Given the description of an element on the screen output the (x, y) to click on. 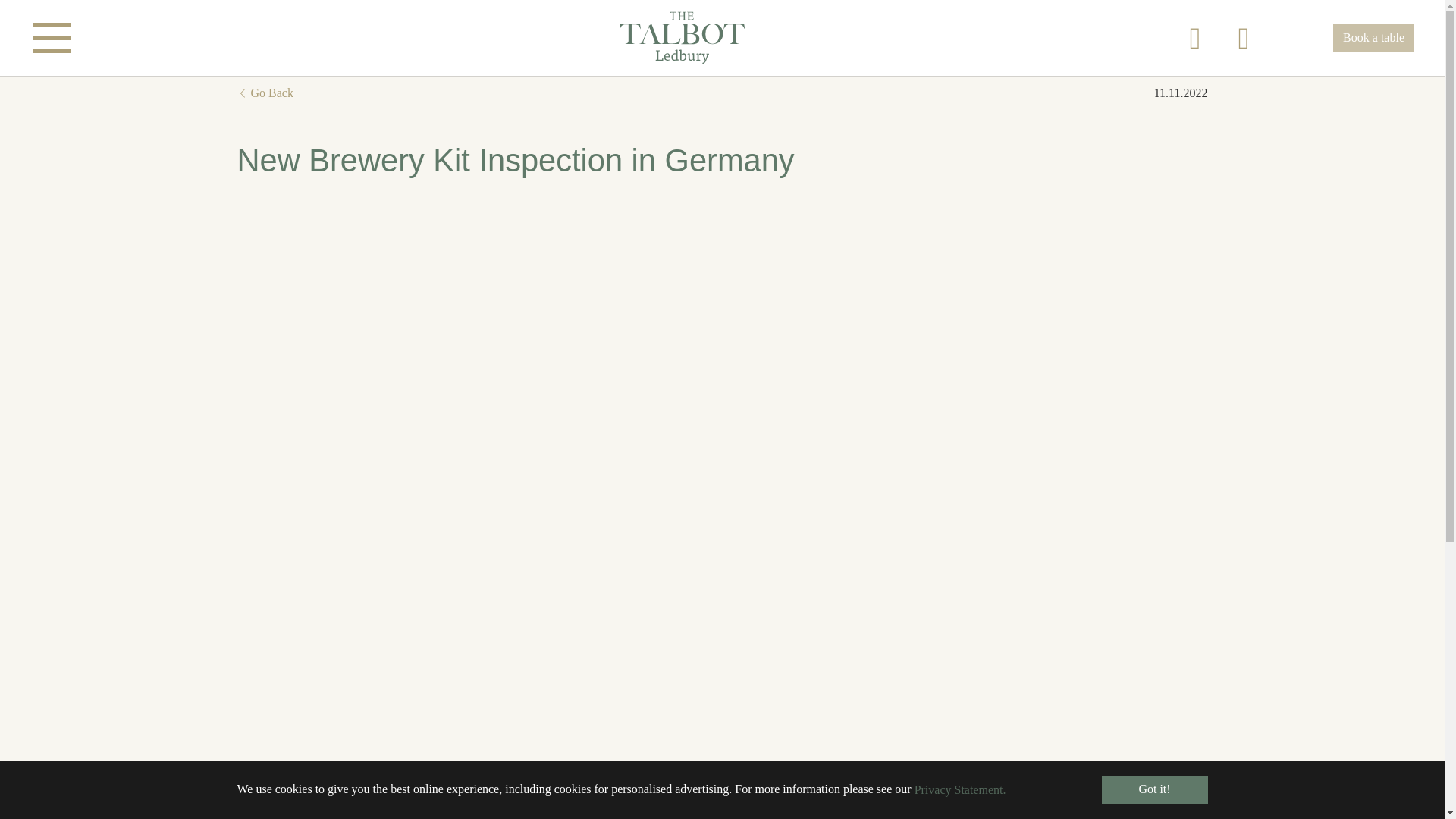
Privacy Statement. (960, 789)
The Talbot (722, 38)
Book a table (1373, 38)
Got it! (1153, 789)
Instagram (1243, 37)
Go Back (263, 93)
Facebook (1194, 37)
